Given the description of an element on the screen output the (x, y) to click on. 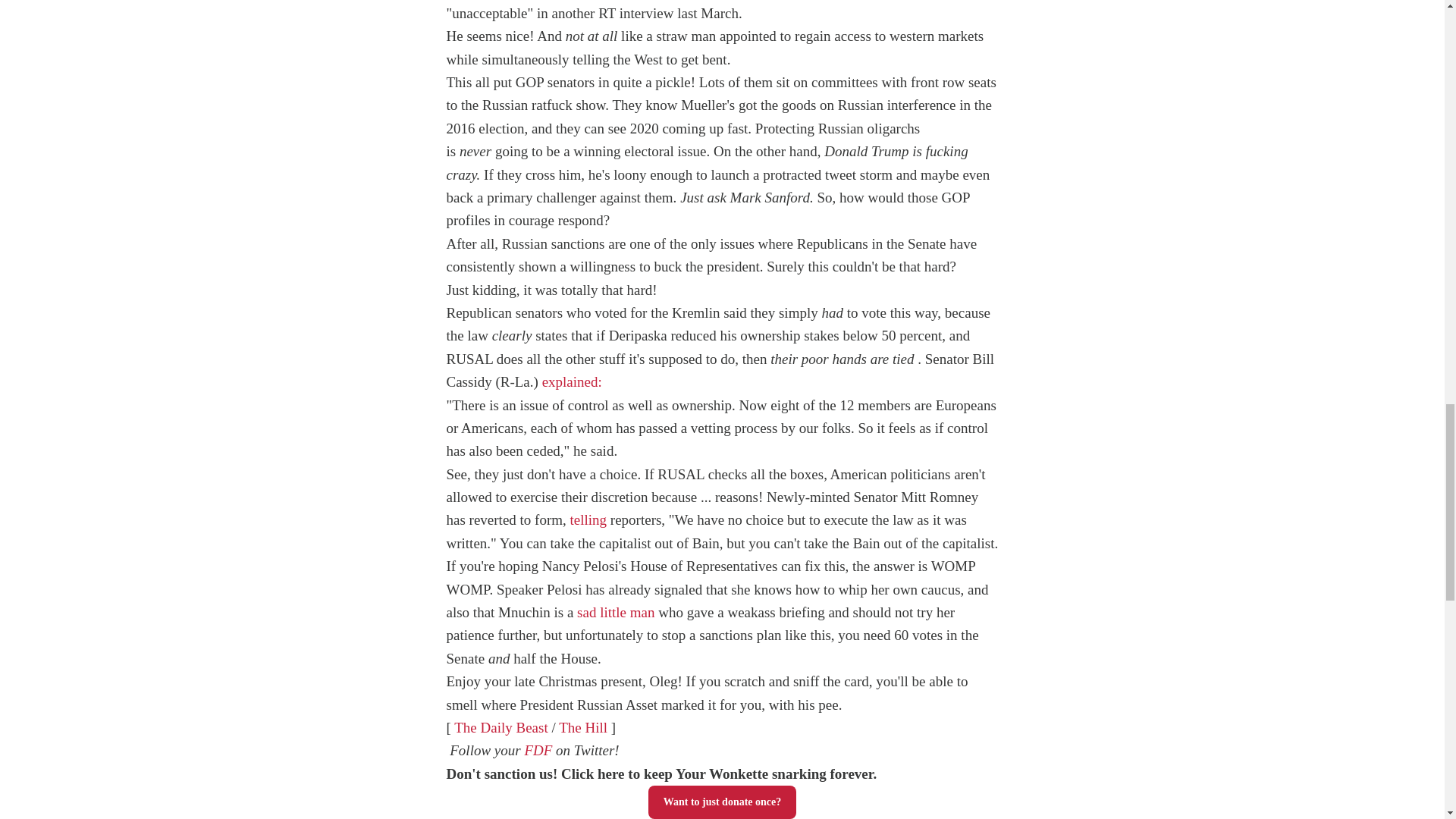
explained: (573, 381)
sad little man (614, 611)
The Daily Beast (500, 727)
The Hill (583, 727)
telling (588, 519)
FDF (537, 750)
